Given the description of an element on the screen output the (x, y) to click on. 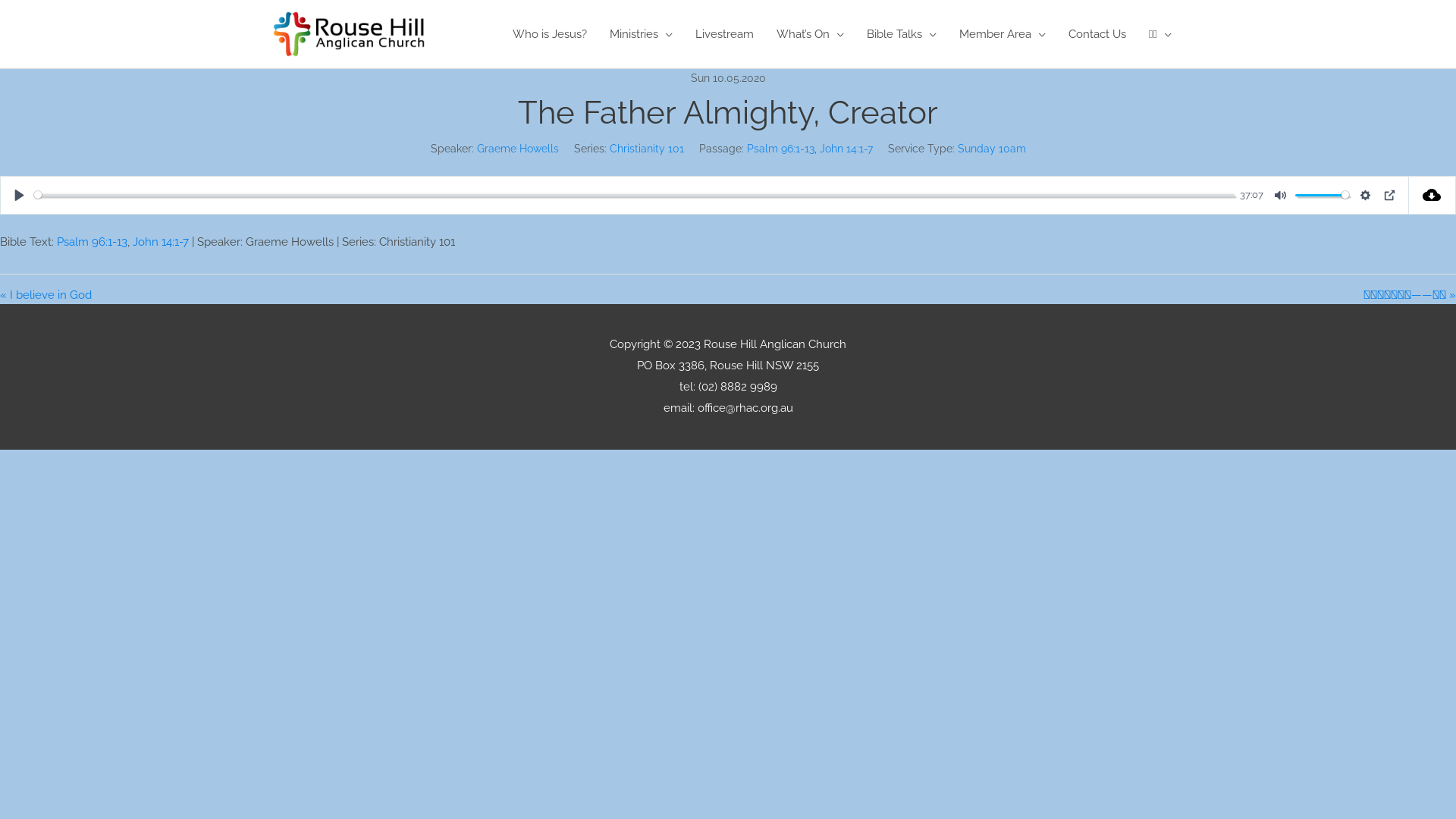
Mute Element type: text (1280, 194)
John 14:1-7 Element type: text (160, 241)
Psalm 96:1-13 Element type: text (779, 148)
PIP Element type: text (1389, 194)
Who is Jesus? Element type: text (549, 33)
Bible Talks Element type: text (901, 33)
Sunday 10am Element type: text (991, 148)
Settings Element type: text (1365, 194)
Ministries Element type: text (641, 33)
Play Element type: text (19, 194)
John 14:1-7 Element type: text (845, 148)
Graeme Howells Element type: text (517, 148)
Livestream Element type: text (724, 33)
Christianity 101 Element type: text (646, 148)
Contact Us Element type: text (1097, 33)
Member Area Element type: text (1002, 33)
Psalm 96:1-13 Element type: text (91, 241)
